Given the description of an element on the screen output the (x, y) to click on. 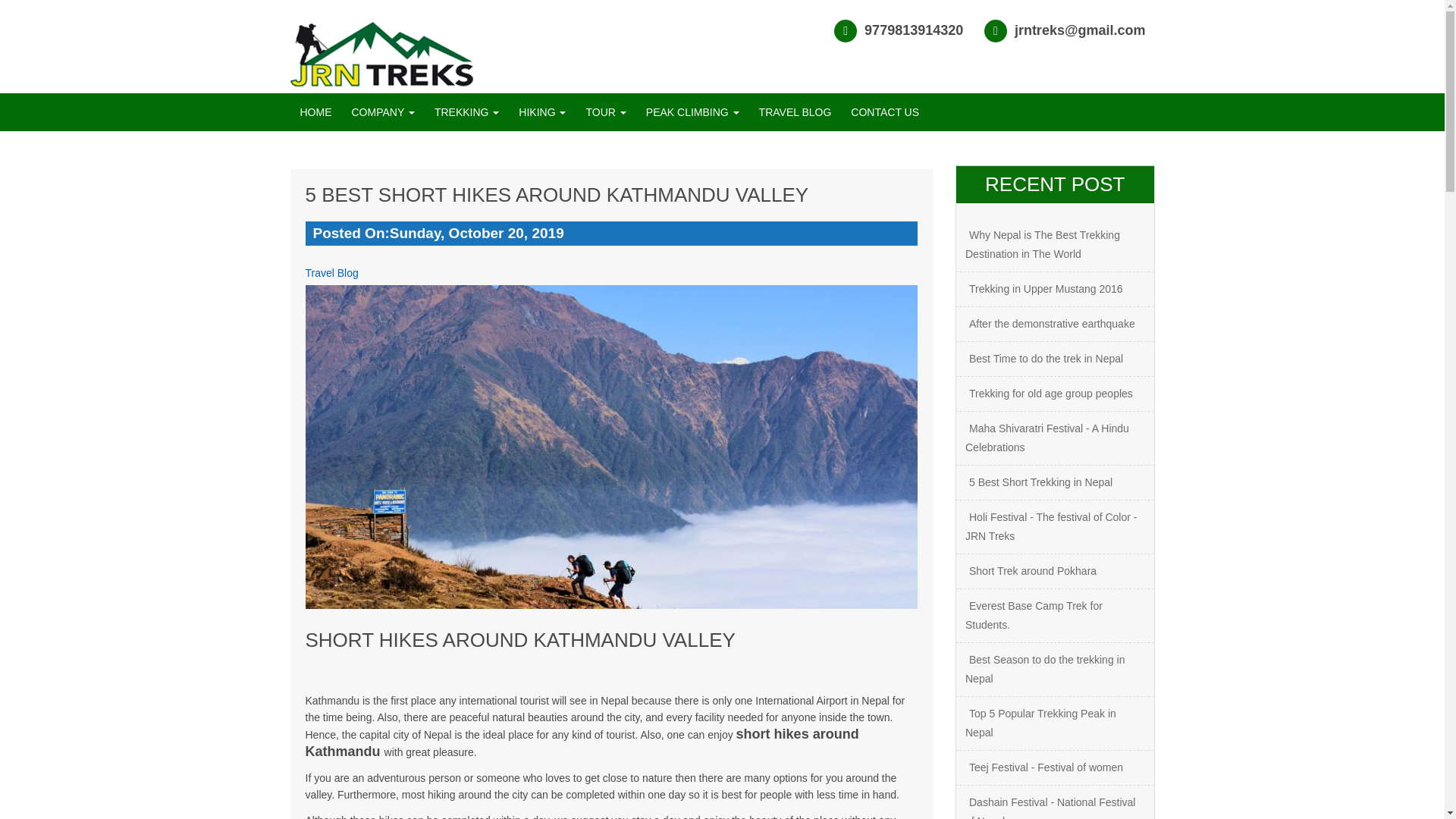
COMPANY (381, 112)
TREKKING (466, 112)
HOME (314, 112)
COMPANY (381, 112)
TREKKING (466, 112)
HOME (314, 112)
